Given the description of an element on the screen output the (x, y) to click on. 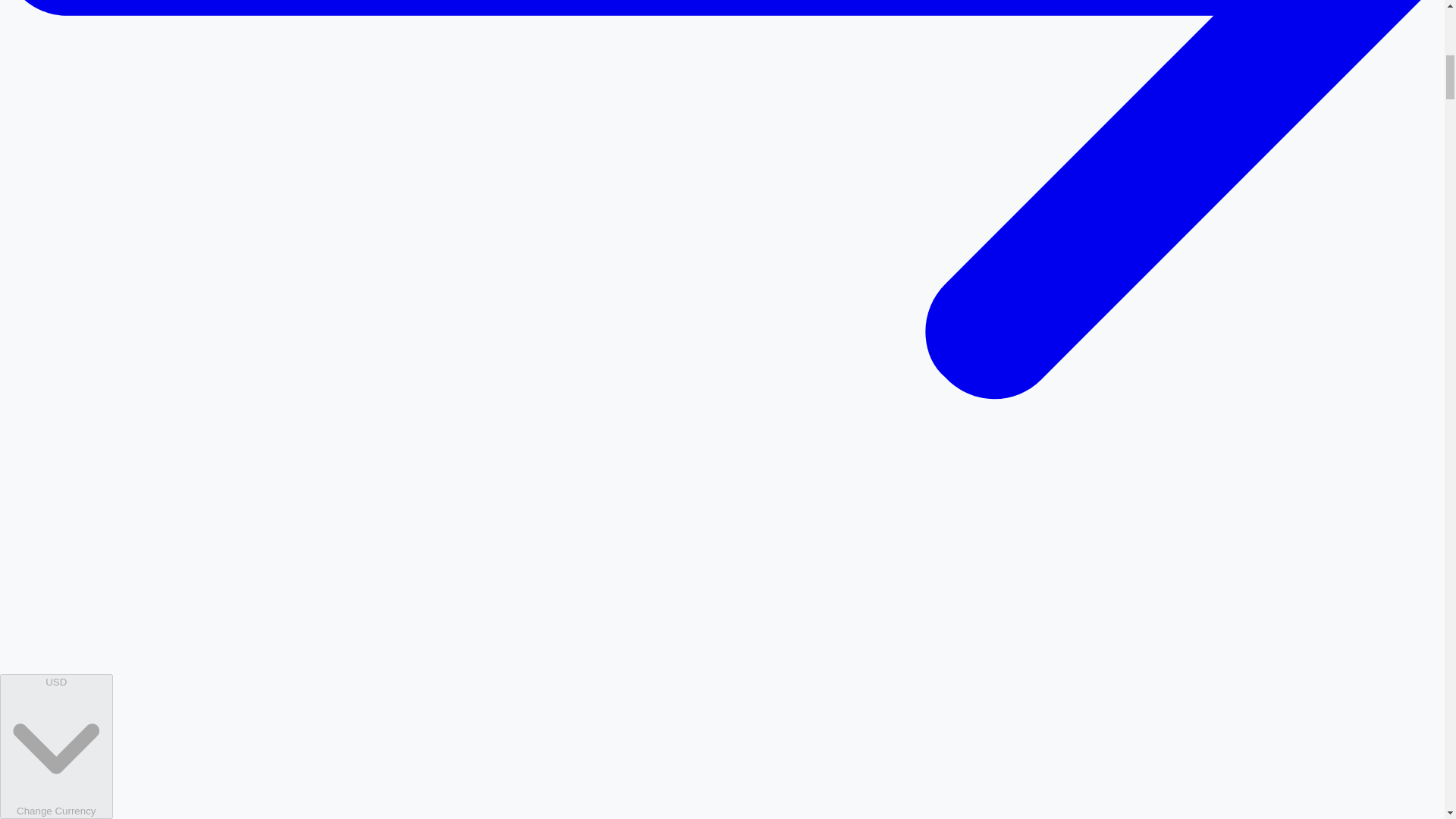
USDChange Currency (56, 746)
